Given the description of an element on the screen output the (x, y) to click on. 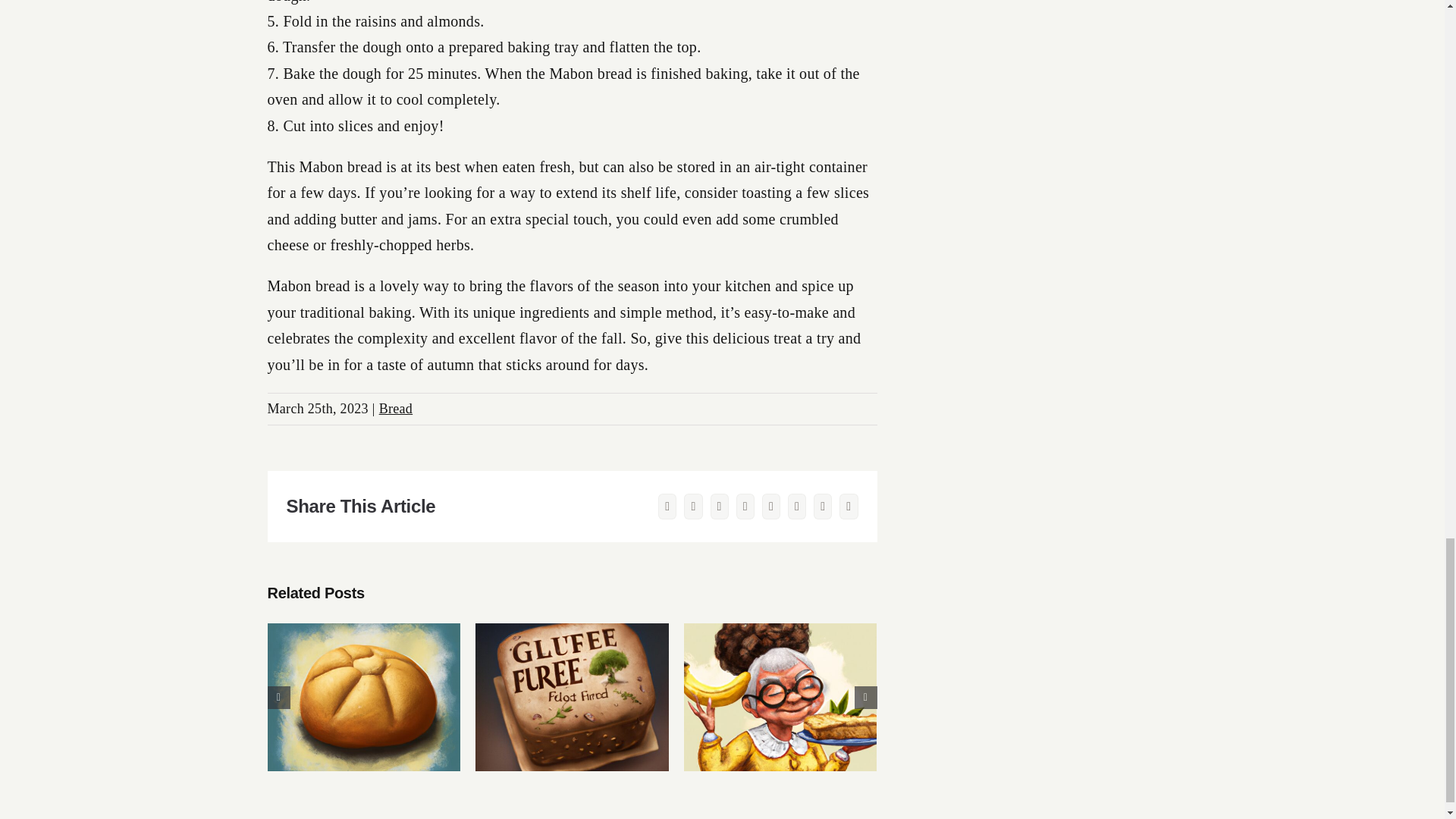
Bread (395, 408)
